Given the description of an element on the screen output the (x, y) to click on. 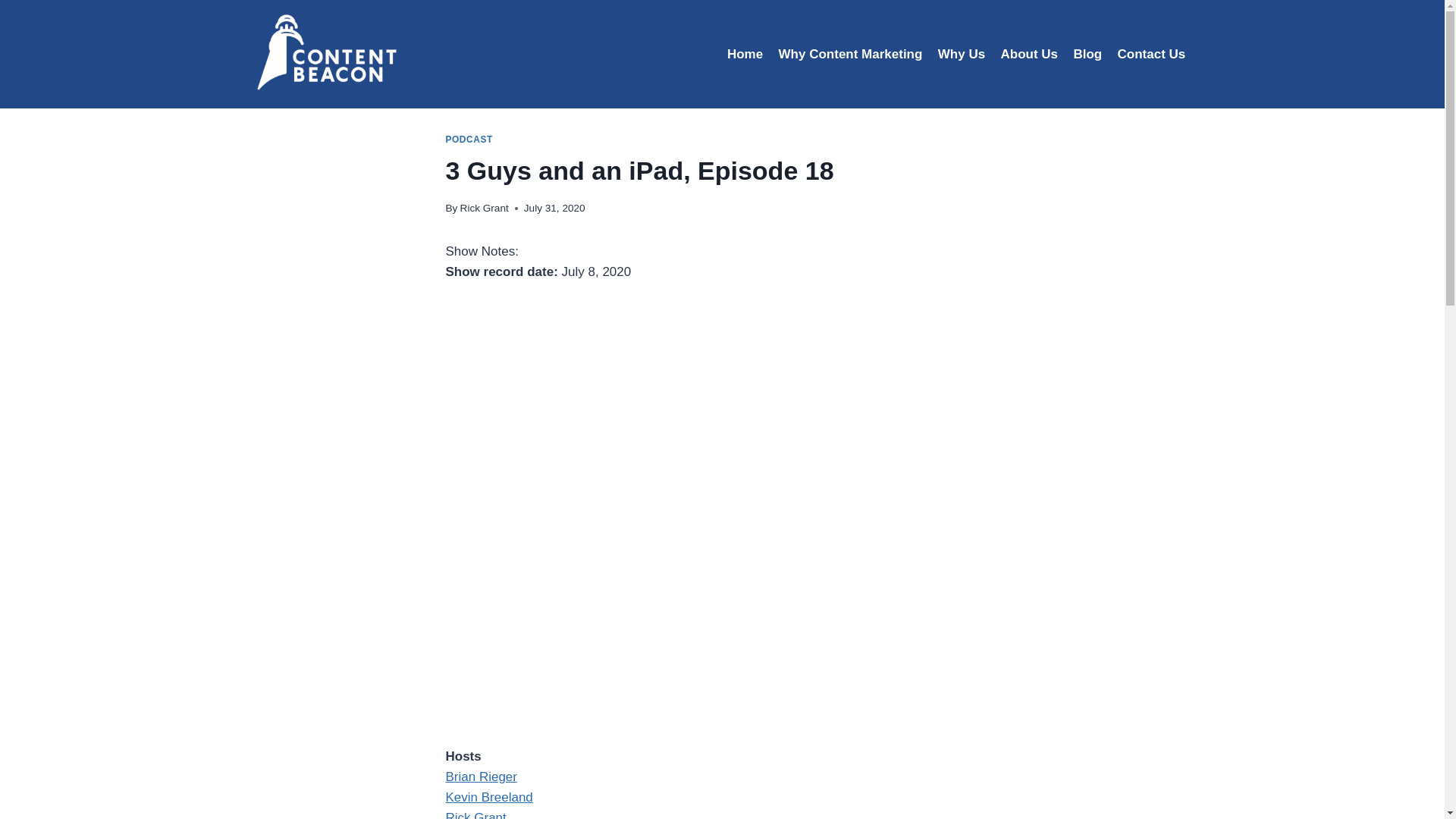
Kevin Breeland (488, 797)
Home (745, 54)
Why Us (961, 54)
Rick Grant (475, 814)
PODCAST (469, 139)
Why Content Marketing (850, 54)
Rick Grant (484, 207)
Contact Us (1150, 54)
Brian Rieger (481, 776)
Blog (1087, 54)
